Given the description of an element on the screen output the (x, y) to click on. 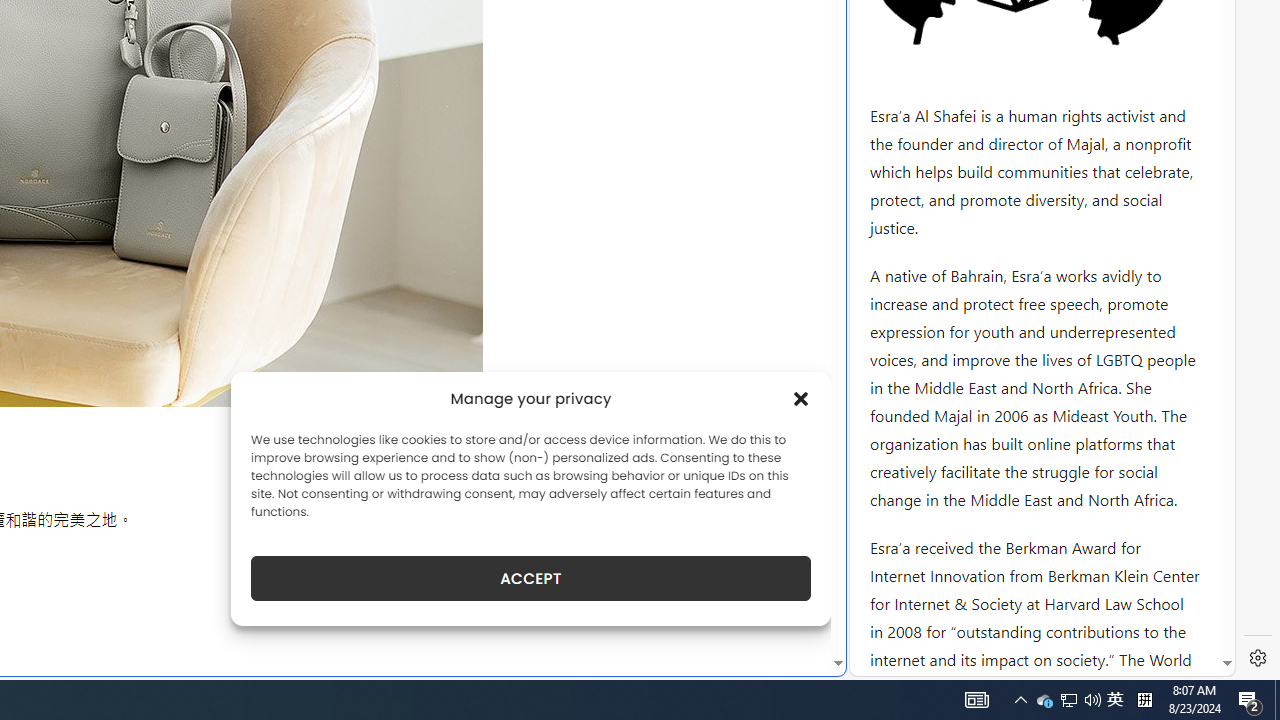
google_privacy_policy_zh-CN.pdf (687, 482)
Class: cmplz-close (801, 398)
Actions for this site (1129, 306)
Favorites (343, 482)
